Given the description of an element on the screen output the (x, y) to click on. 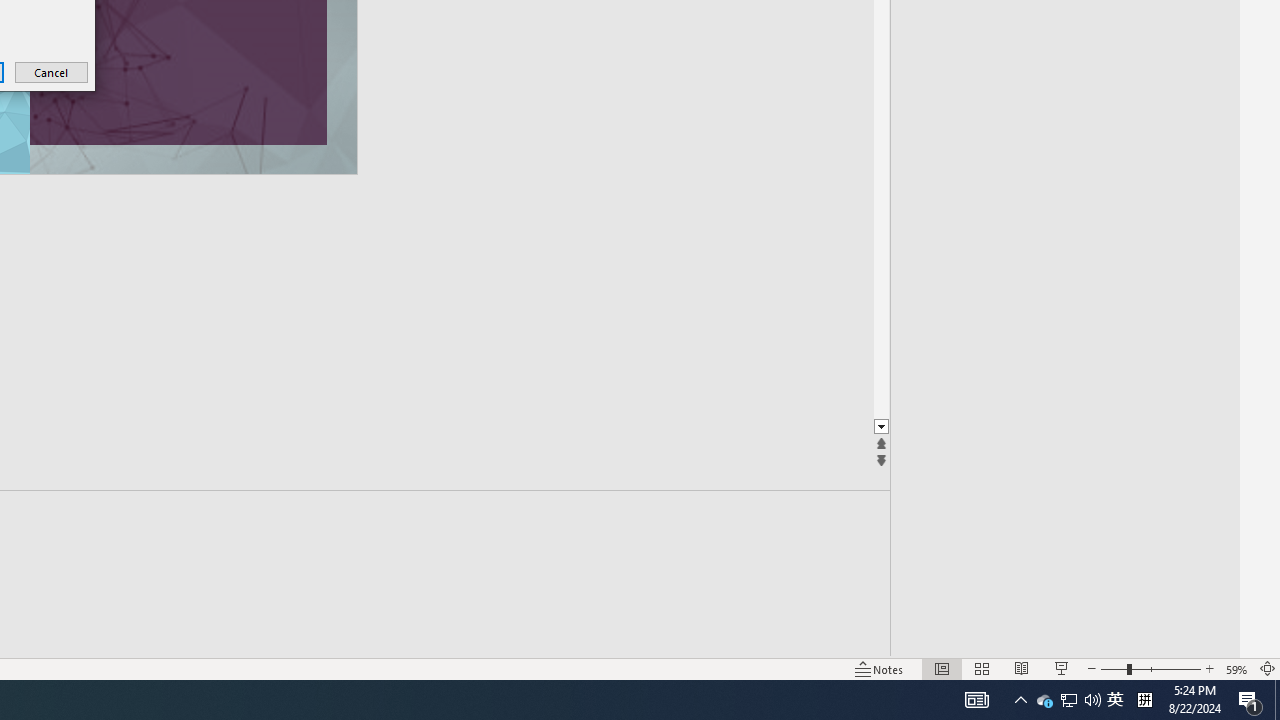
System Promoted Notification Area (1044, 699)
Action Center, 1 new notification (1250, 699)
